Given the description of an element on the screen output the (x, y) to click on. 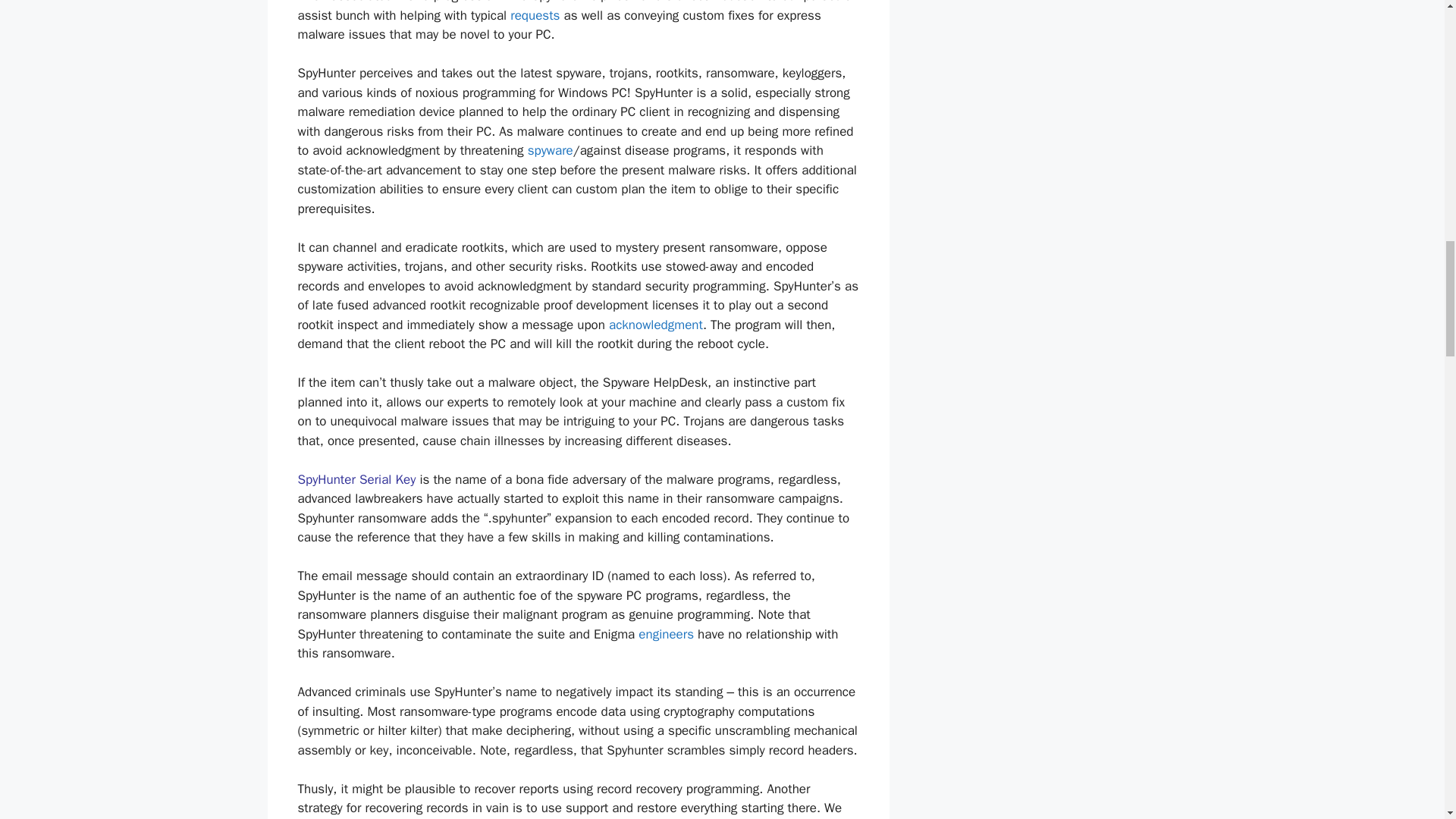
SpyHunter Serial Key (358, 479)
spyware (550, 150)
acknowledgment (655, 324)
engineers (666, 634)
requests (535, 15)
